Given the description of an element on the screen output the (x, y) to click on. 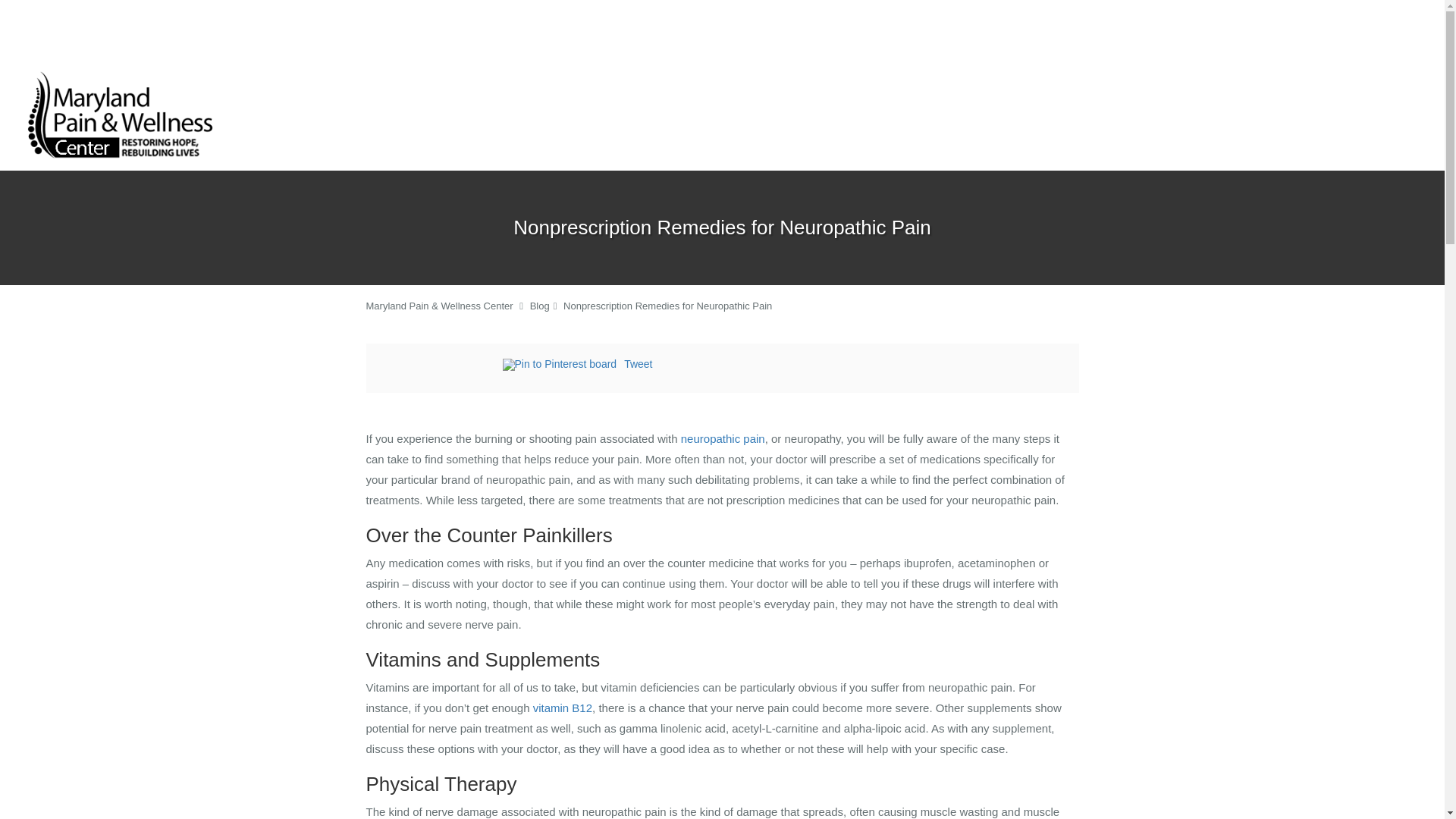
Skip to main content (74, 66)
Facebook social button (441, 366)
